Given the description of an element on the screen output the (x, y) to click on. 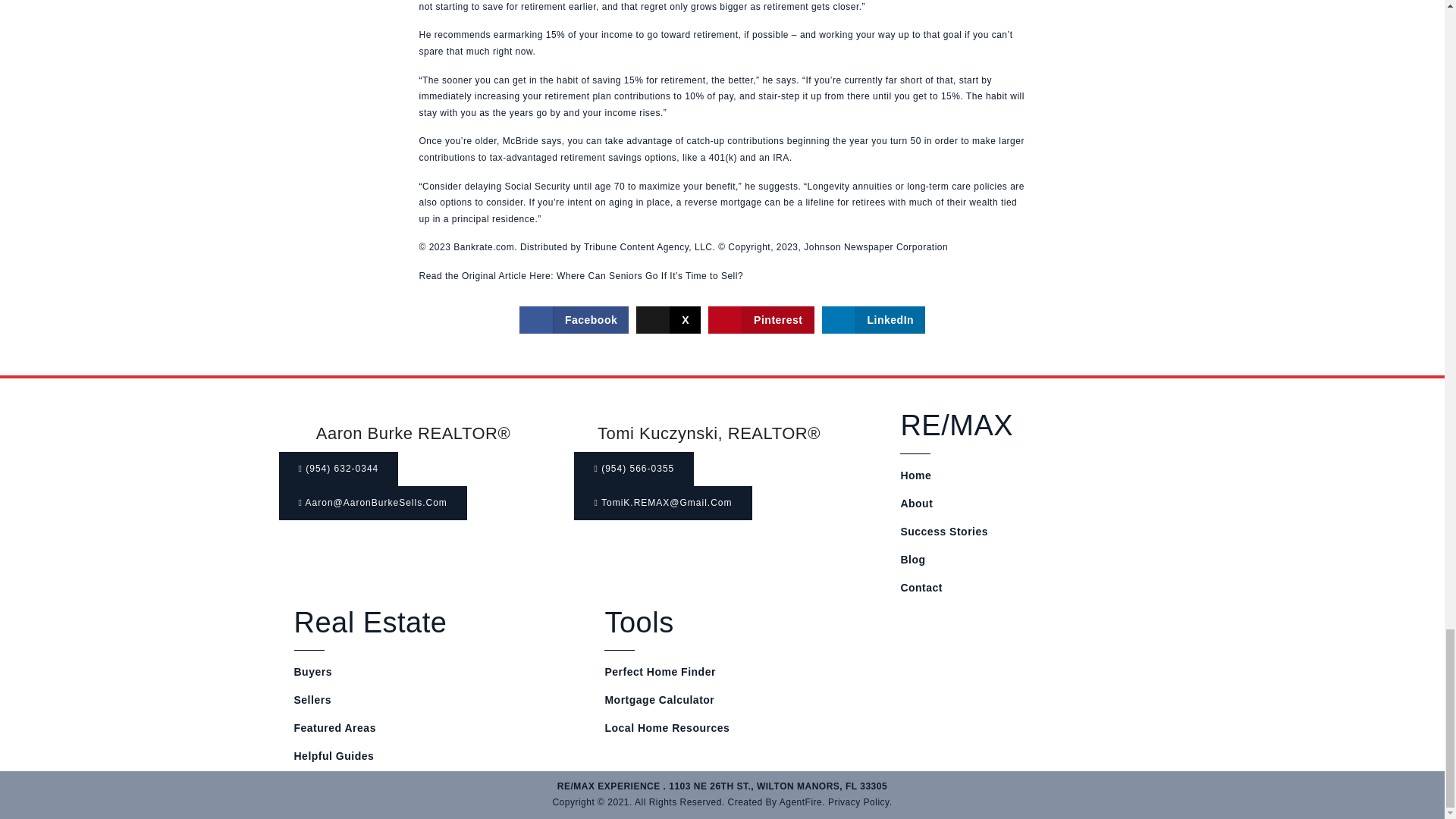
Read our privacy policy (858, 801)
